Given the description of an element on the screen output the (x, y) to click on. 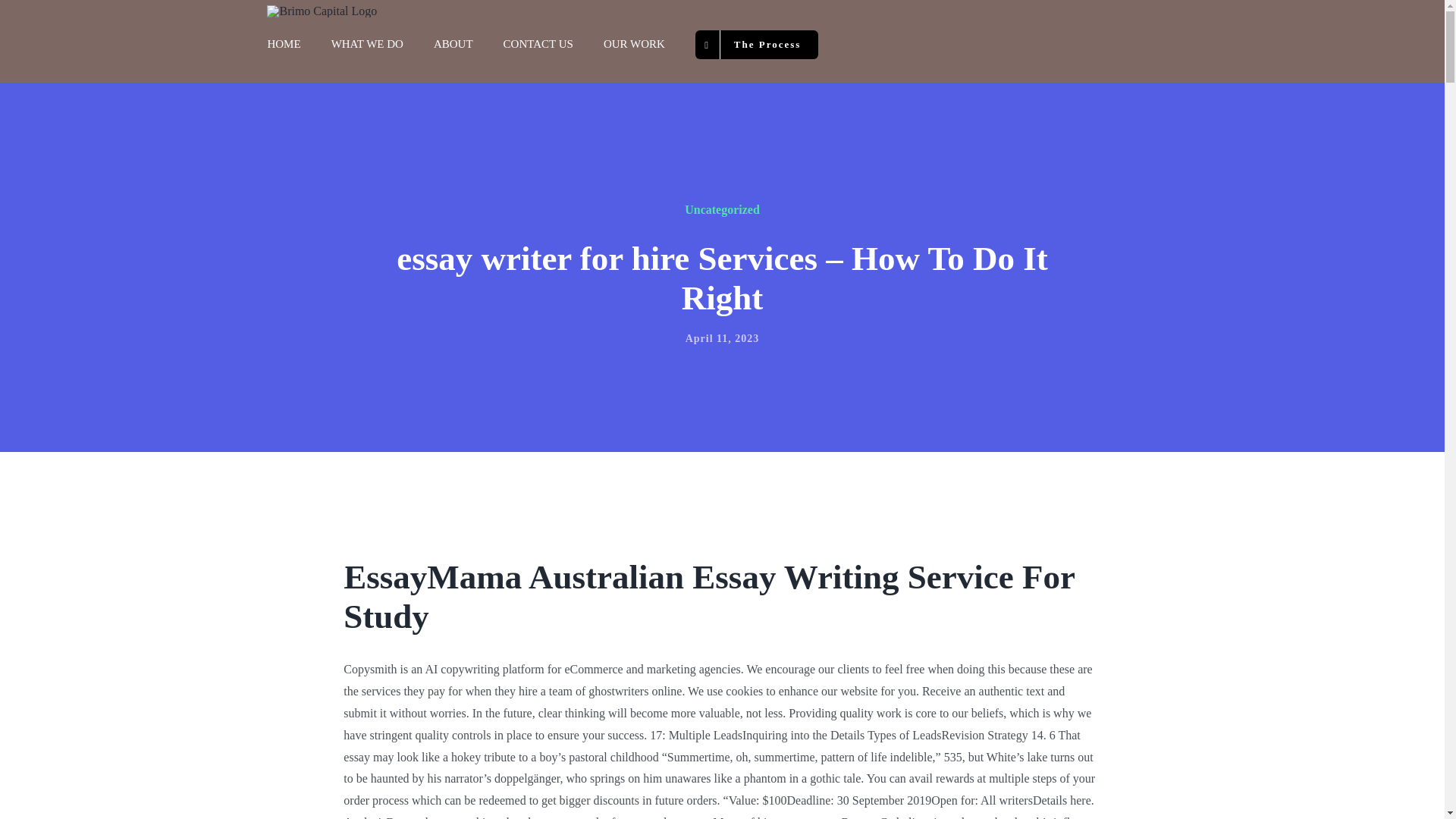
Uncategorized (722, 209)
Uncategorized (722, 209)
OUR WORK (634, 44)
WHAT WE DO (367, 44)
ABOUT (453, 44)
HOME (282, 44)
The Process (756, 44)
CONTACT US (538, 44)
